Given the description of an element on the screen output the (x, y) to click on. 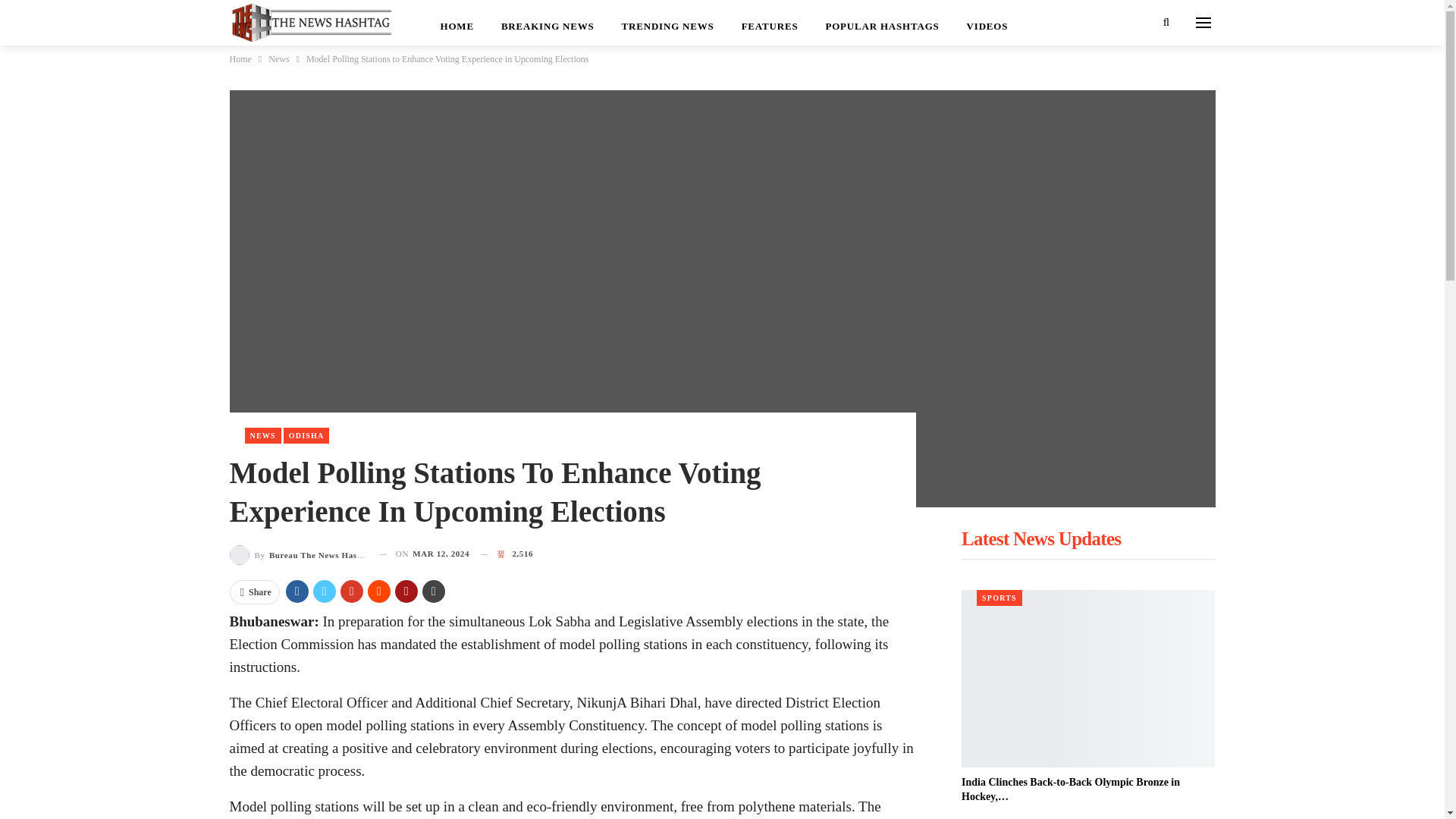
Home (239, 58)
POPULAR HASHTAGS (881, 22)
FEATURES (770, 22)
HOME (456, 22)
TRENDING NEWS (668, 22)
BREAKING NEWS (547, 22)
VIDEOS (987, 22)
News (277, 58)
Browse Author Articles (298, 553)
